Given the description of an element on the screen output the (x, y) to click on. 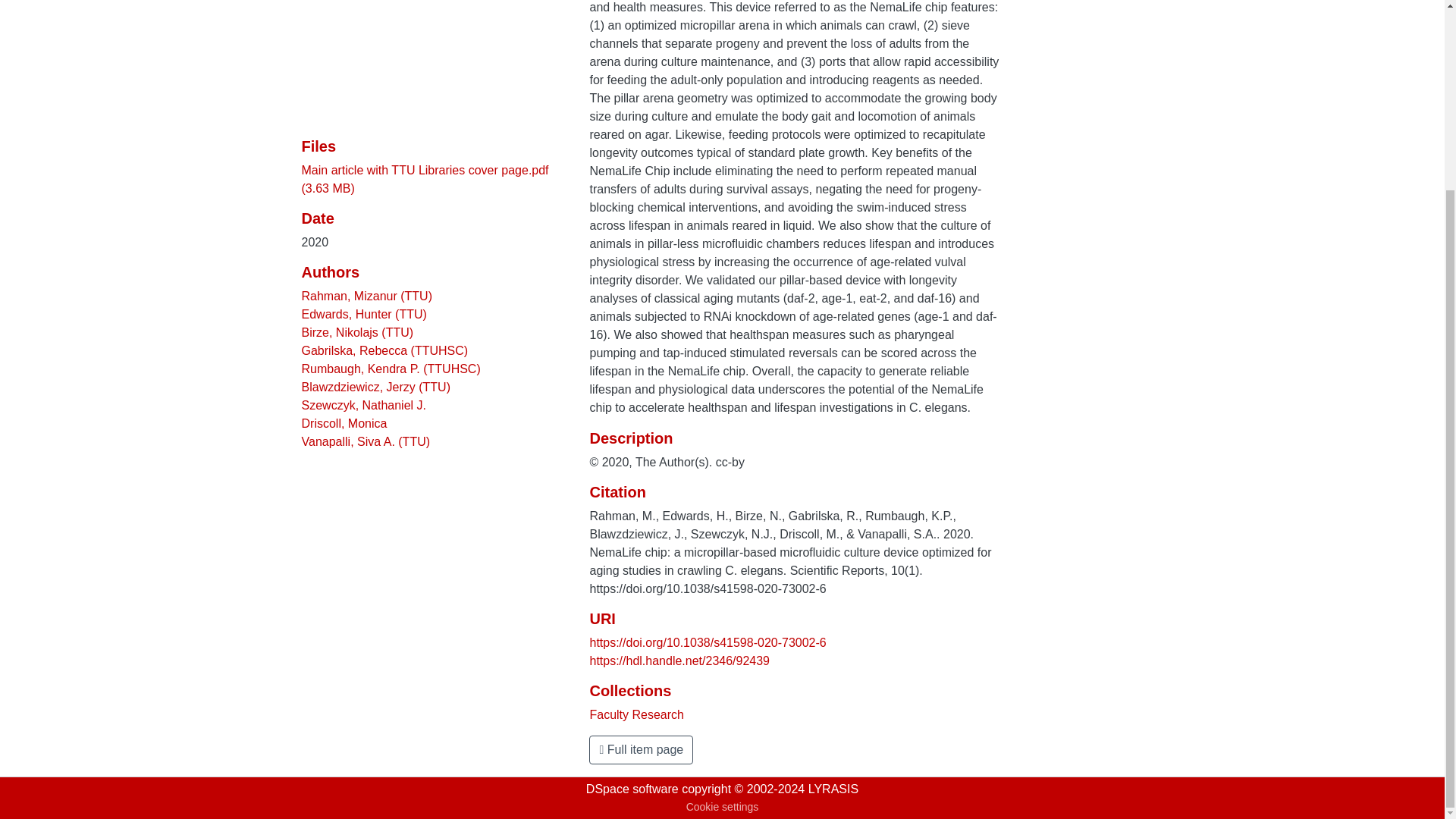
Driscoll, Monica (344, 422)
Faculty Research (636, 714)
Cookie settings (722, 806)
Szewczyk, Nathaniel J. (363, 404)
LYRASIS (833, 788)
Full item page (641, 749)
DSpace software (632, 788)
